Given the description of an element on the screen output the (x, y) to click on. 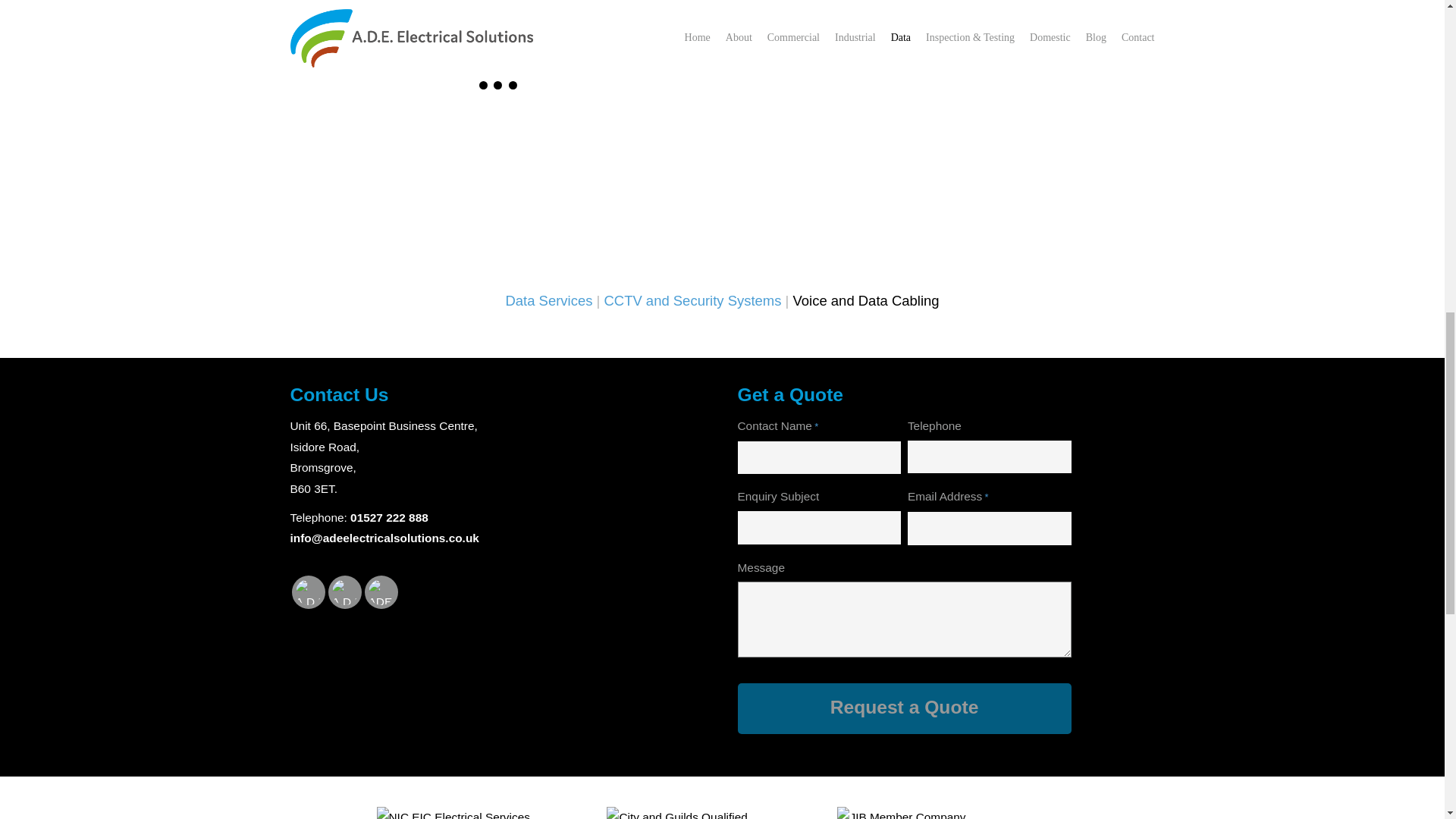
data-and-cabling-installation-by-ade-electrical-03 (359, 174)
Request a Quote (903, 708)
data-and-cabling-installation-by-ade-electrical-02 (498, 174)
data-and-cabling-installation-by-ade-electrical (637, 174)
